Given the description of an element on the screen output the (x, y) to click on. 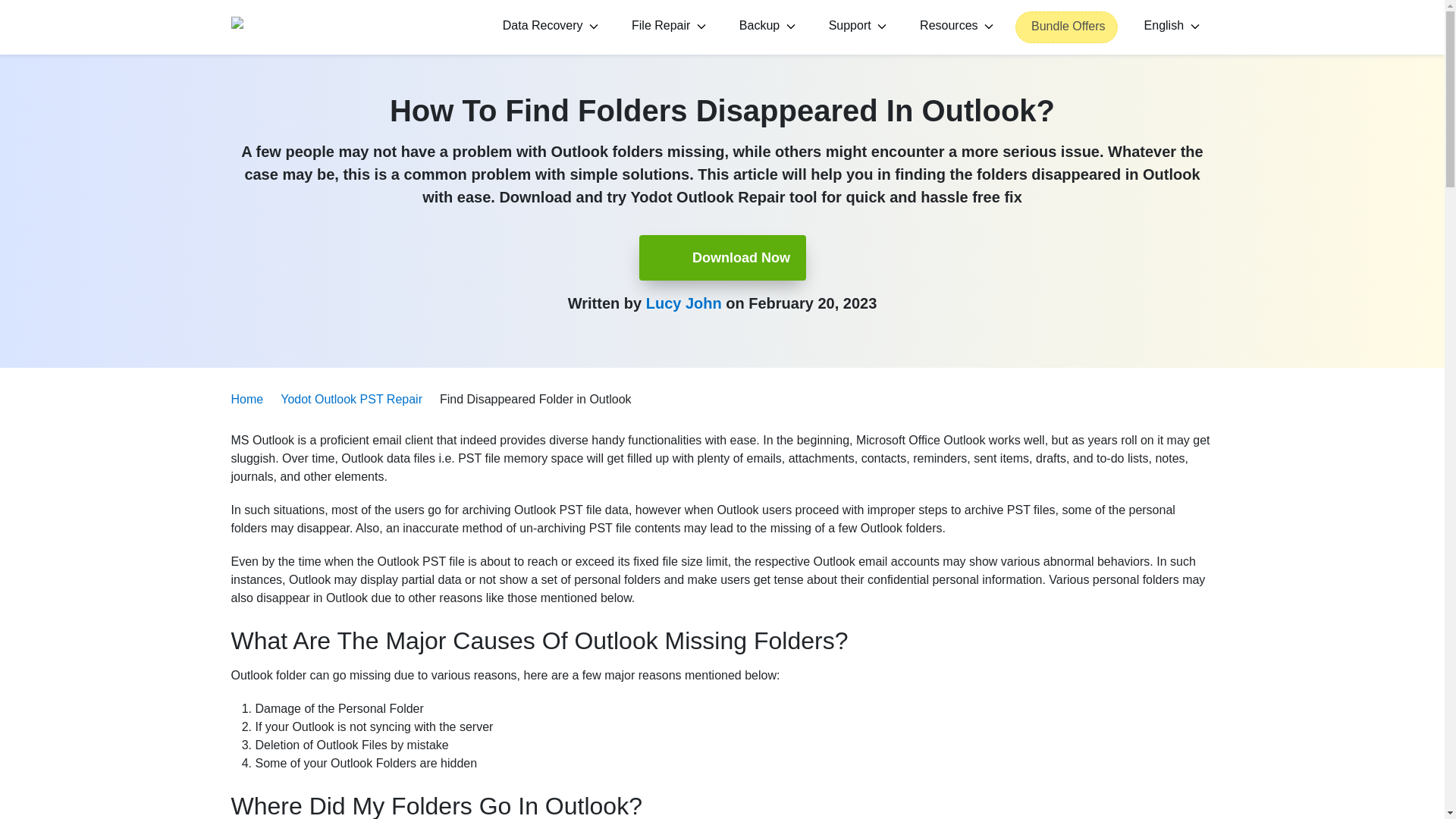
File Repair (665, 26)
Data Recovery (547, 26)
Support (854, 26)
Backup (764, 26)
Resources (954, 26)
Bundle Offers (1066, 27)
